Given the description of an element on the screen output the (x, y) to click on. 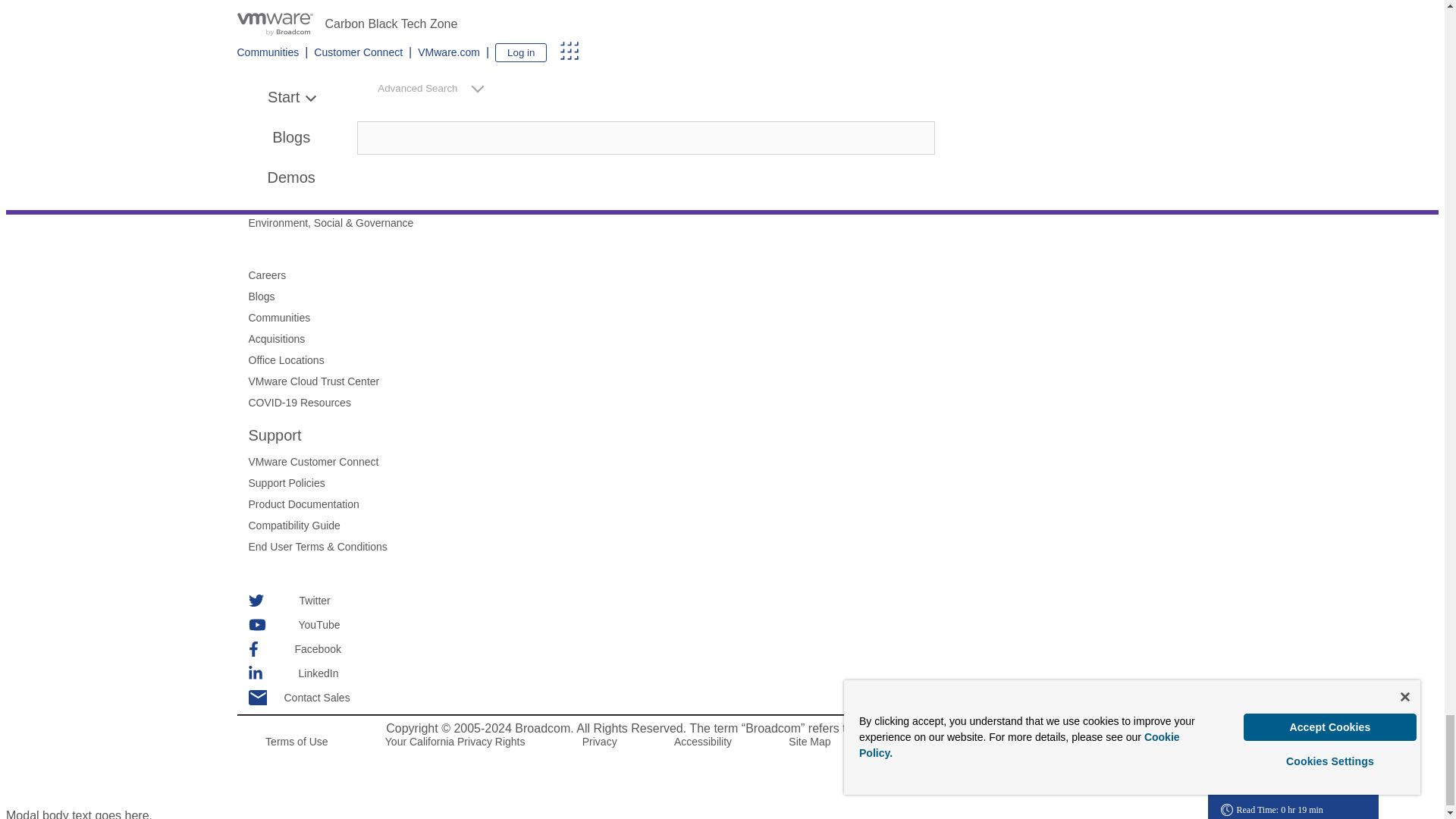
Communities (734, 317)
About Us (780, 95)
Customer Stories (734, 180)
Twitter (734, 600)
Newsroom (734, 137)
VMware Cloud Trust Center (734, 381)
Compatibility Guide (734, 525)
VMware Customer Connect (734, 461)
Blogs (734, 296)
Office Locations (734, 359)
Careers (734, 275)
COVID-19 Resources (734, 402)
Executive Leadership (734, 116)
Product Documentation (734, 503)
Support Policies (734, 482)
